Given the description of an element on the screen output the (x, y) to click on. 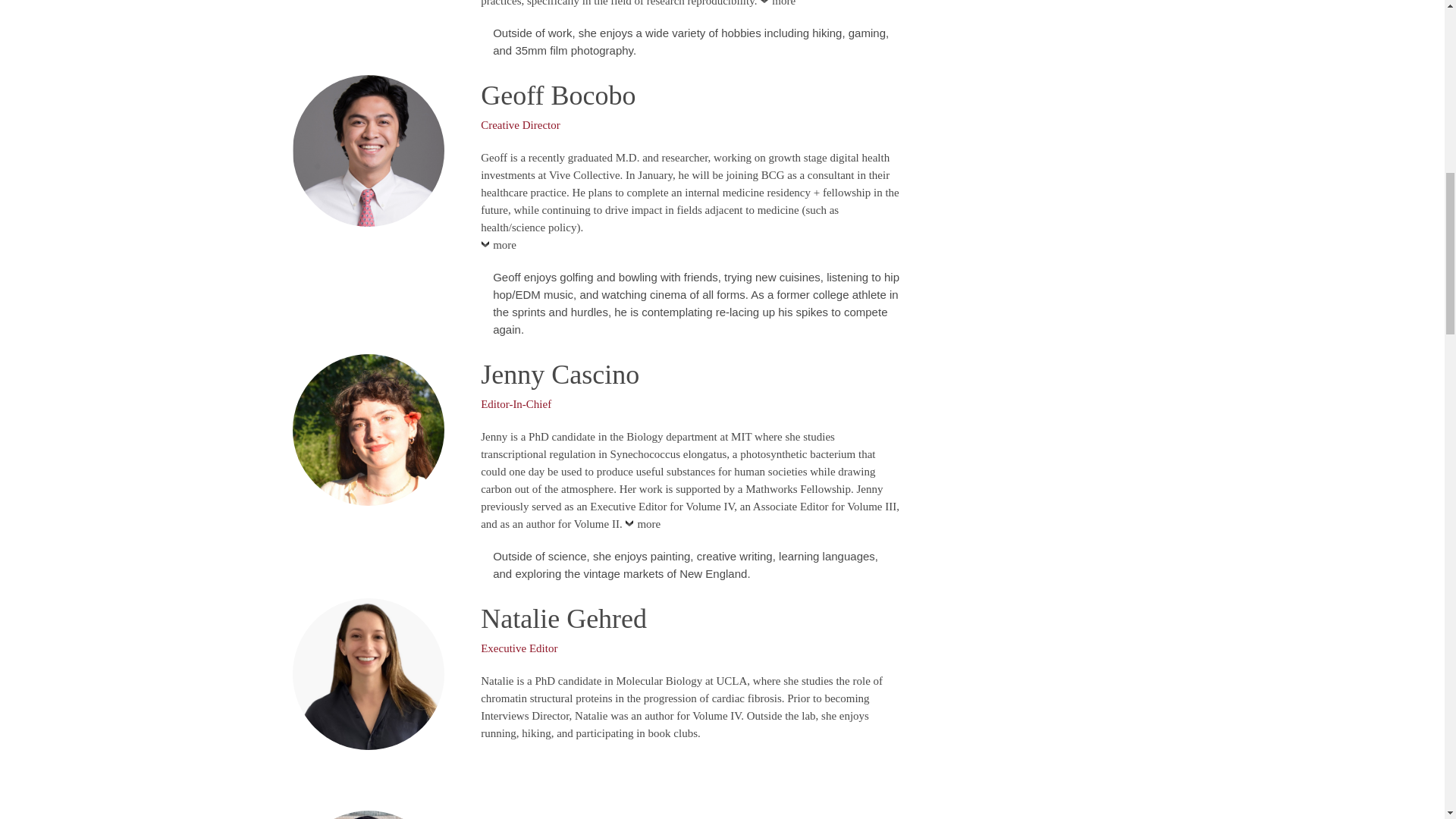
more (642, 527)
more (498, 248)
more (777, 7)
